Given the description of an element on the screen output the (x, y) to click on. 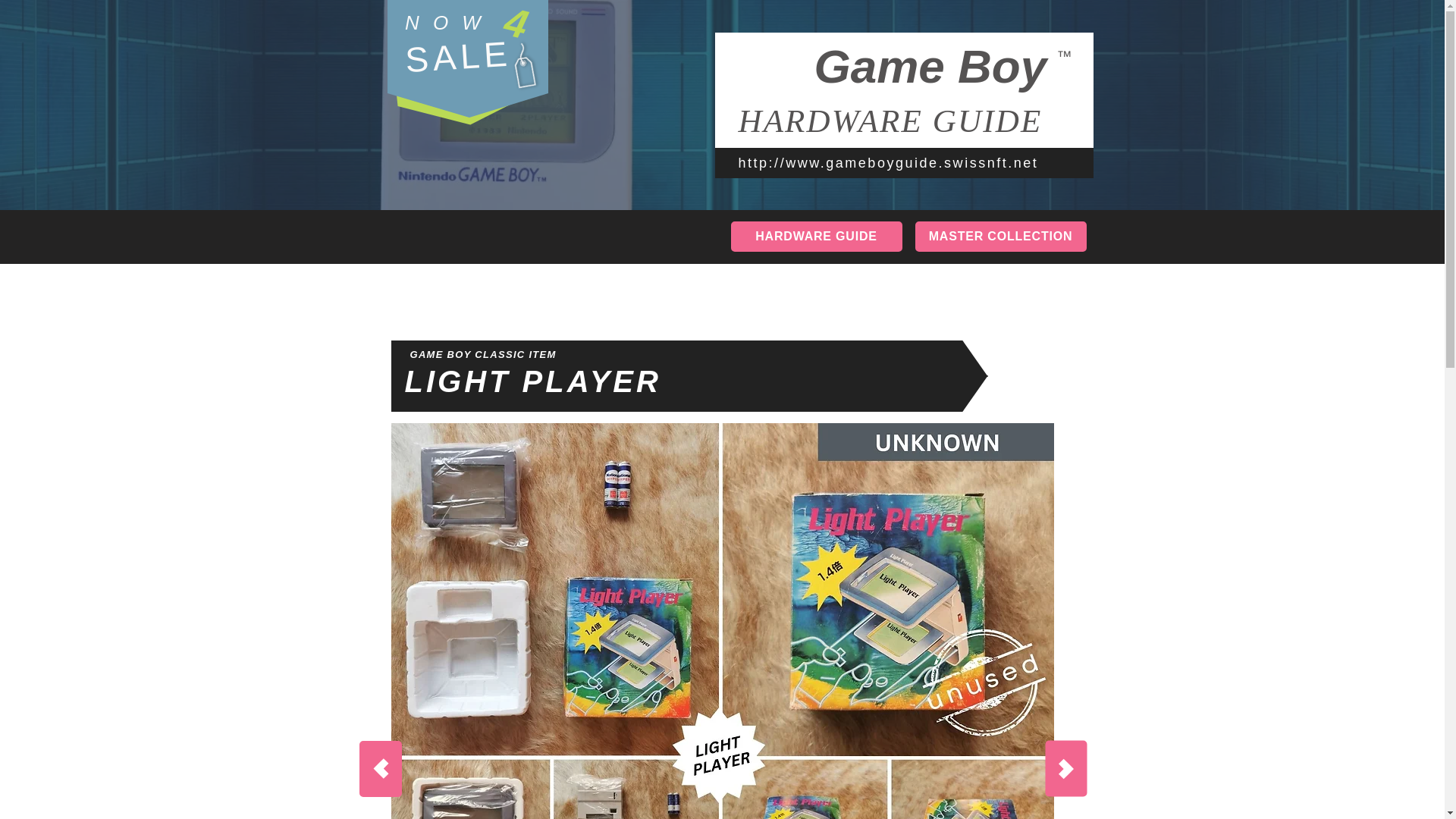
SALE (457, 56)
MASTER COLLECTION (1000, 236)
HARDWARE GUIDE (816, 236)
NOW (449, 22)
4 (521, 21)
